Given the description of an element on the screen output the (x, y) to click on. 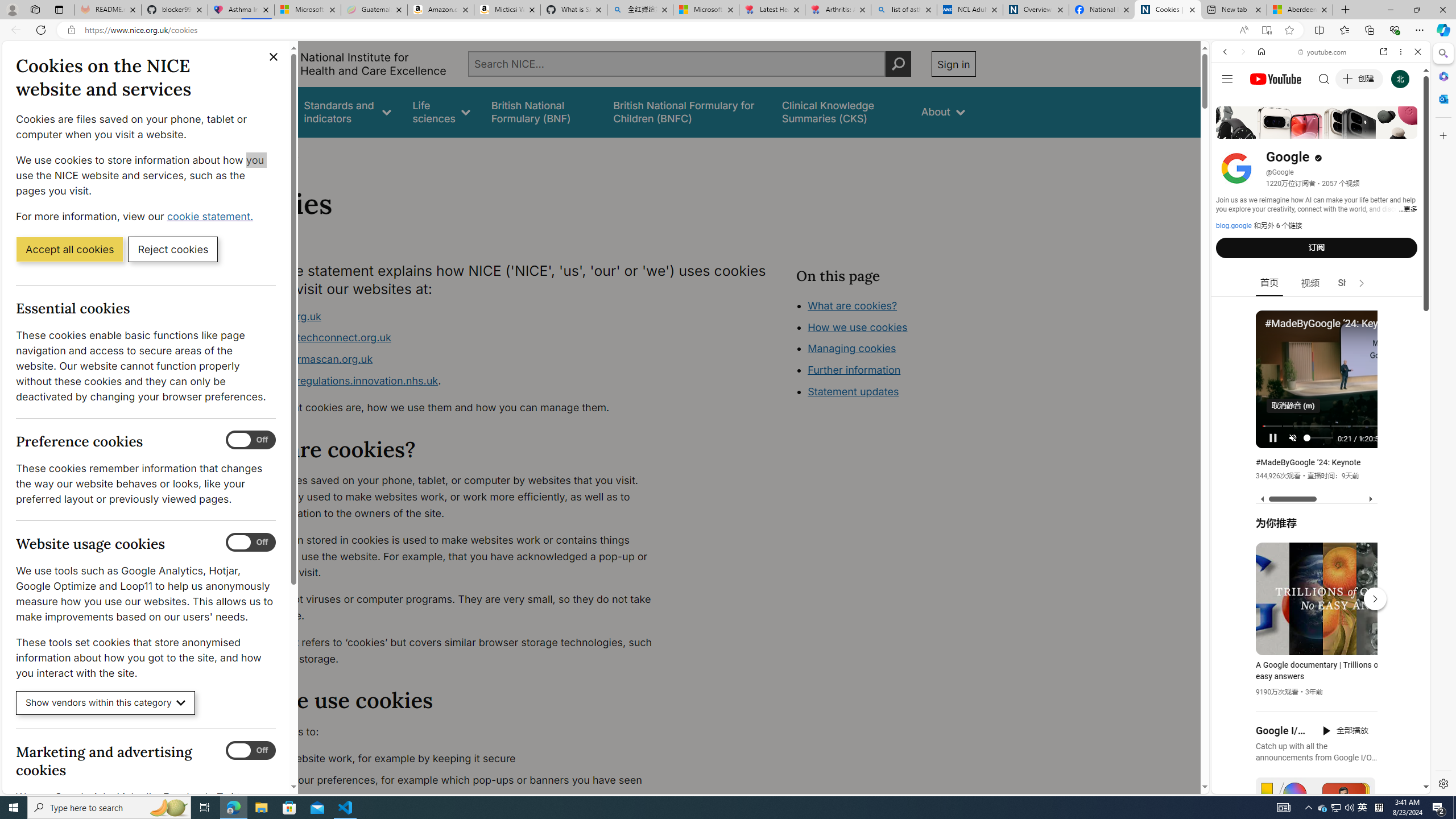
Reject cookies (173, 248)
About (942, 111)
Class: dict_pnIcon rms_img (1312, 784)
About (283, 152)
www.digitalregulations.innovation.nhs.uk. (452, 380)
